Given the description of an element on the screen output the (x, y) to click on. 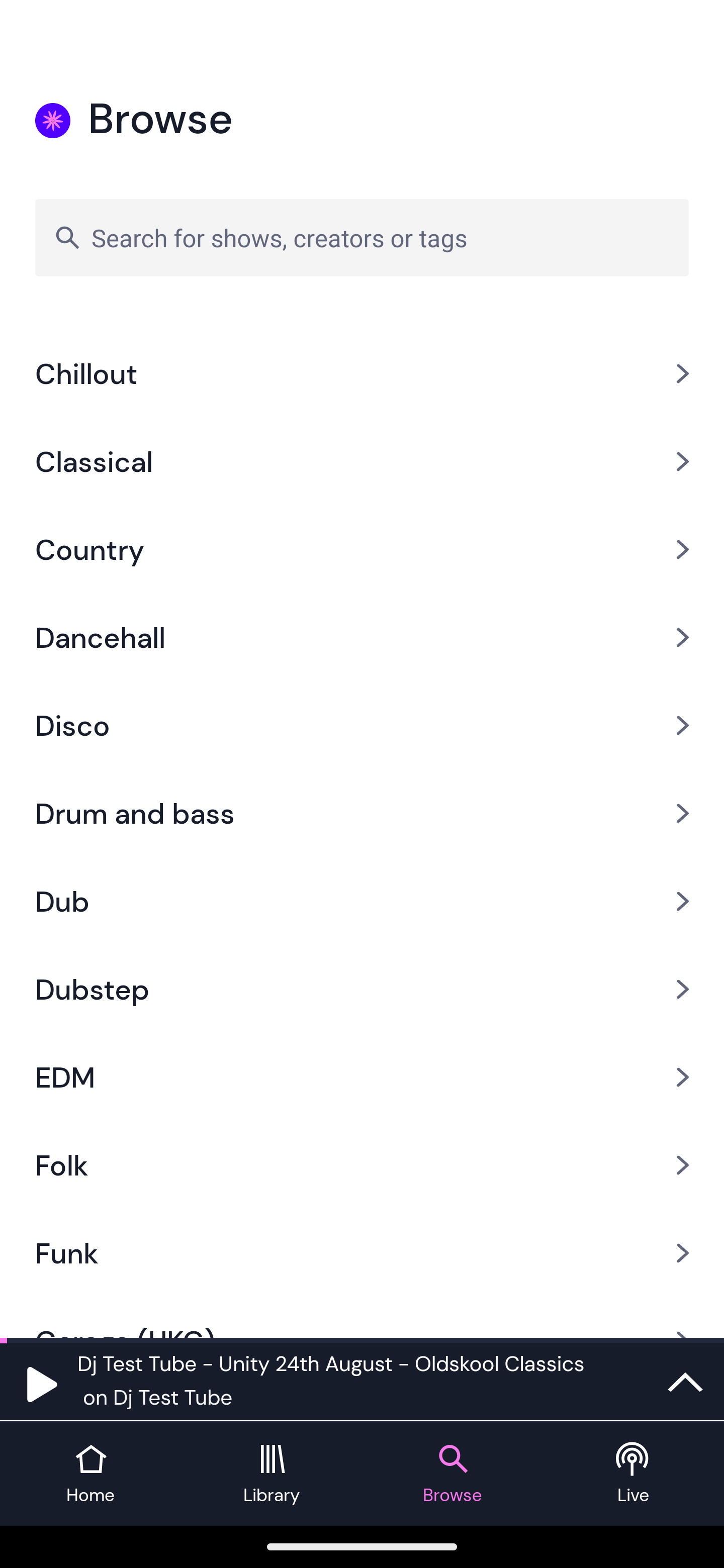
Search for shows, creators or tags (361, 237)
Chillout (361, 373)
Classical (361, 460)
Country (361, 549)
Dancehall (361, 638)
Disco (361, 725)
Drum and bass (361, 813)
Dub (361, 901)
Dubstep (361, 989)
EDM (361, 1077)
Folk (361, 1164)
Funk (361, 1252)
Home tab Home (90, 1473)
Library tab Library (271, 1473)
Browse tab Browse (452, 1473)
Live tab Live (633, 1473)
